Given the description of an element on the screen output the (x, y) to click on. 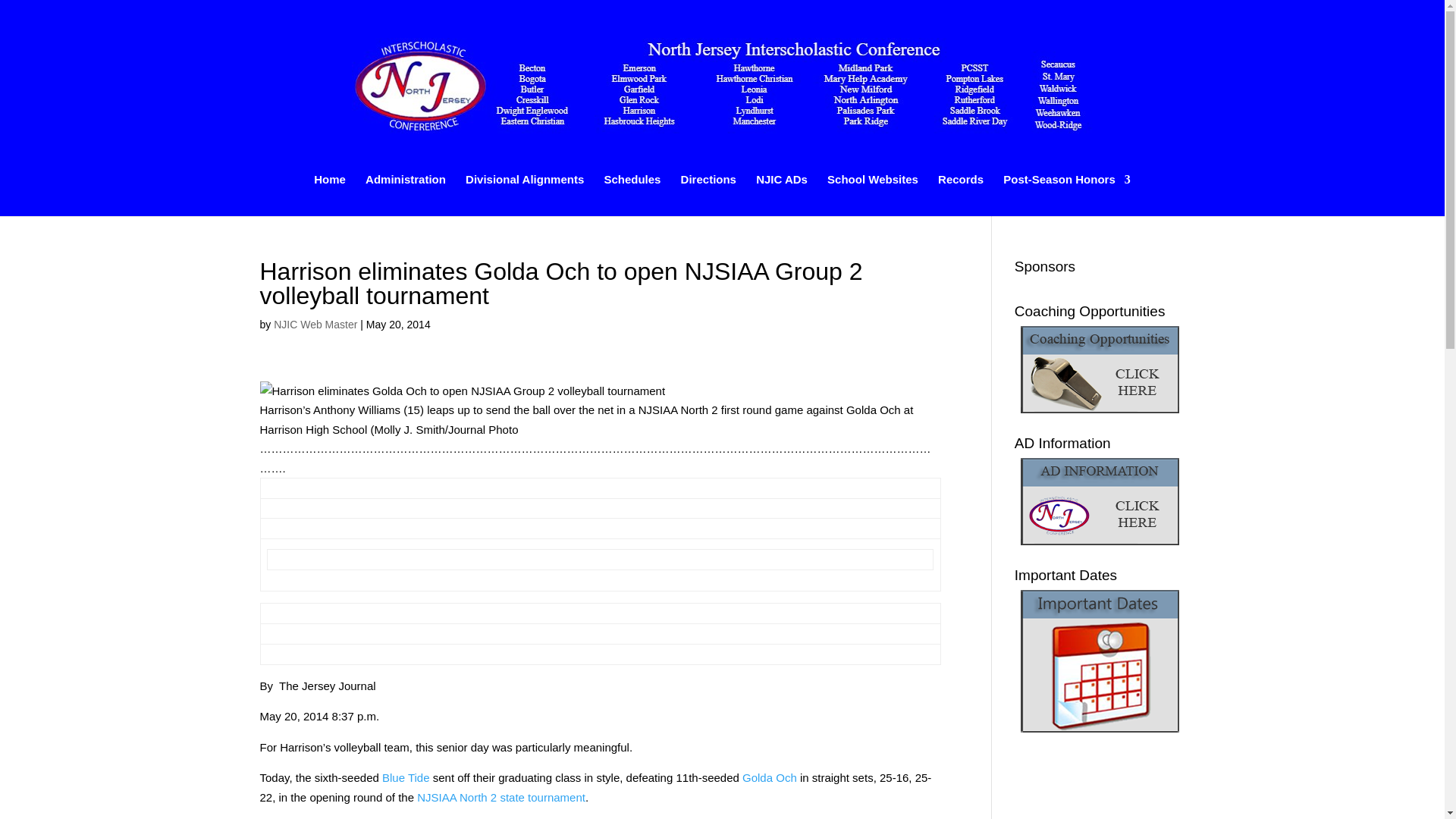
Divisional Alignments (524, 195)
NJIC Web Master (314, 324)
Posts by NJIC Web Master (314, 324)
Records (960, 195)
NJSIAA North 2 state tournament (500, 796)
Administration (405, 195)
Coaching Opportunities (1099, 369)
NJIC ADs (781, 195)
Post-Season Honors (1067, 195)
School Websites (872, 195)
Schedules (632, 195)
AD Information (1099, 501)
Directions (708, 195)
Golda Och (769, 777)
AD Meetings1 (1099, 660)
